Given the description of an element on the screen output the (x, y) to click on. 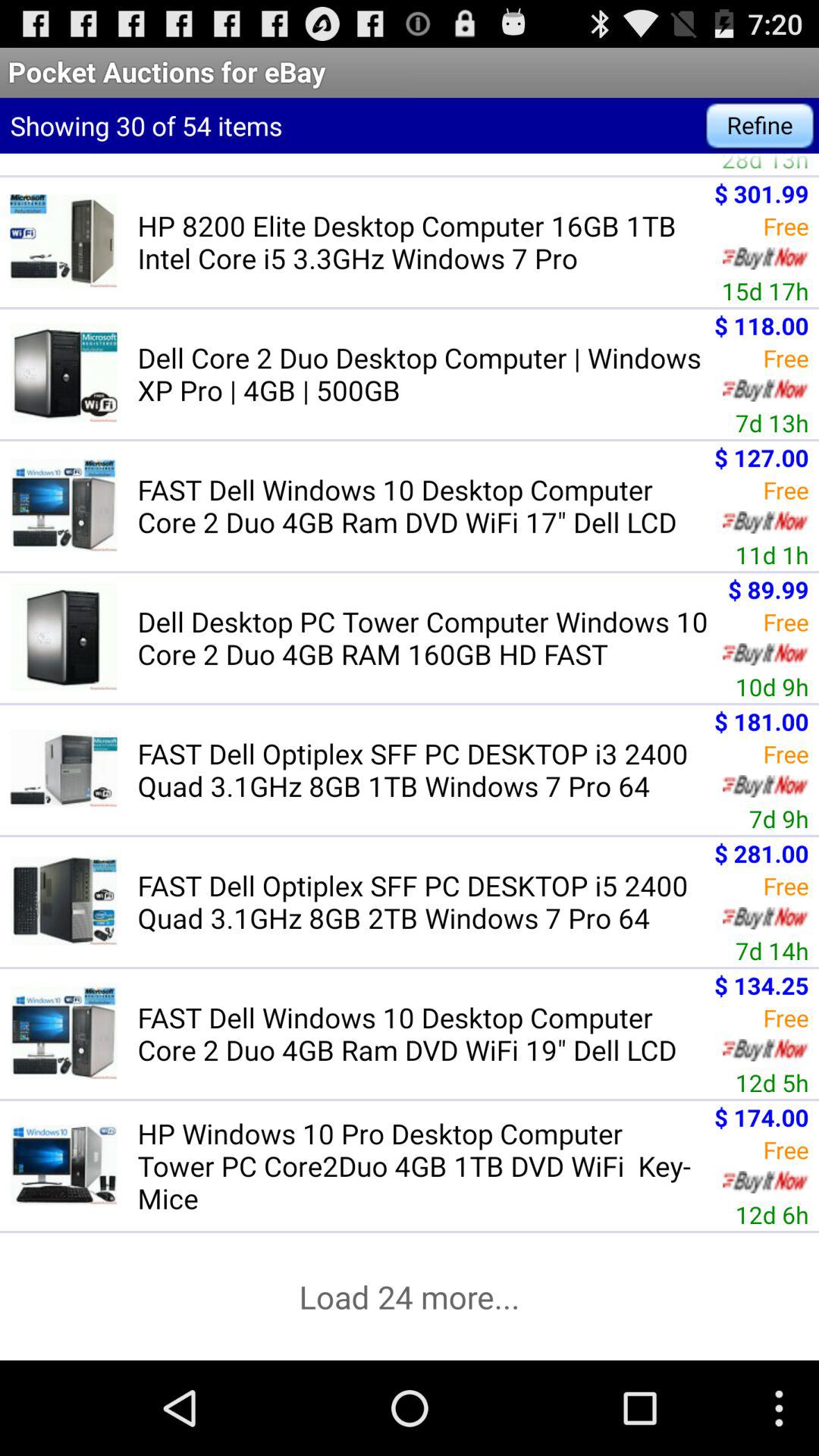
choose the item above $ 174.00 icon (771, 1082)
